Given the description of an element on the screen output the (x, y) to click on. 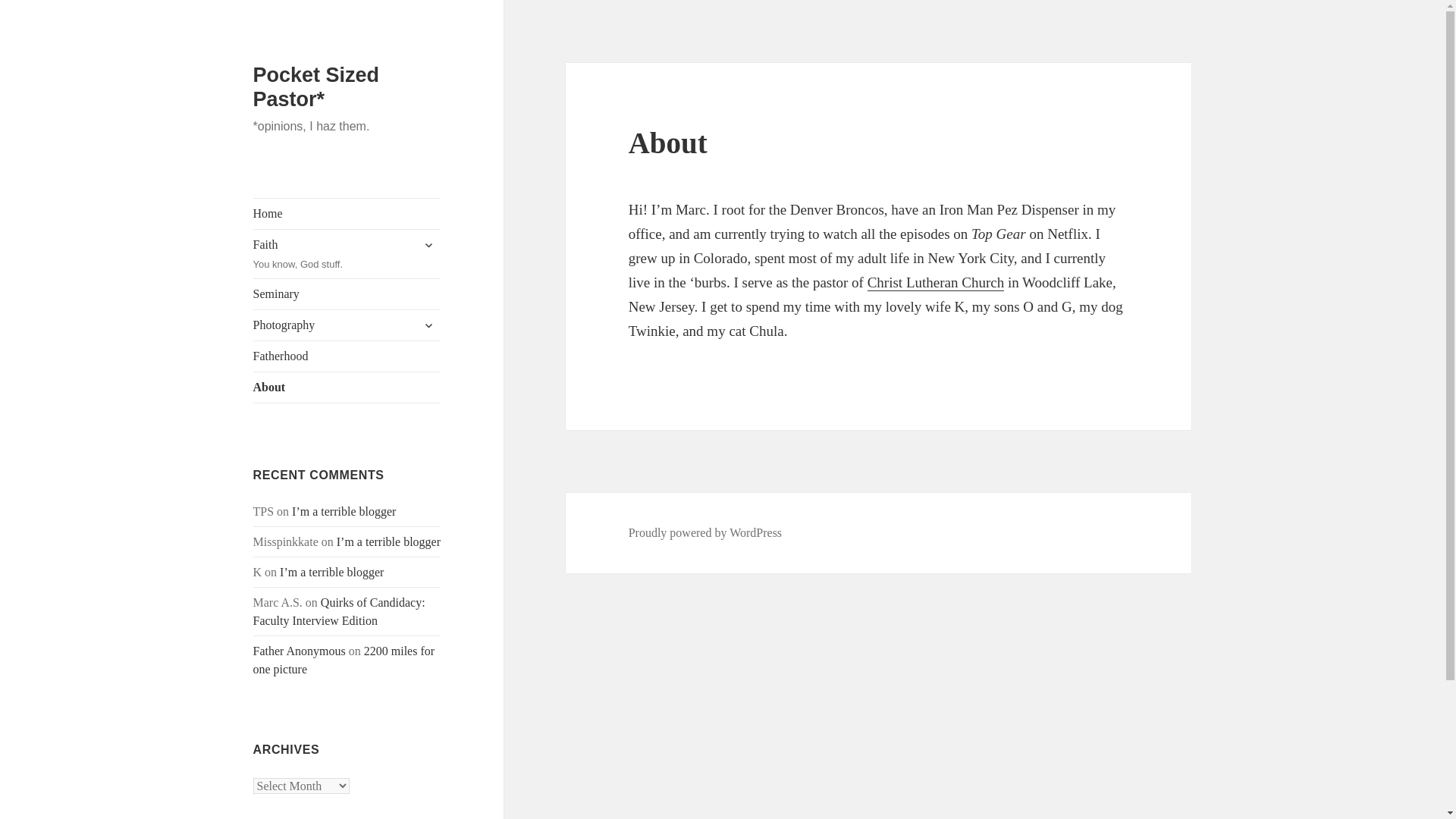
Quirks of Candidacy: Faculty Interview Edition (347, 254)
Proudly powered by WordPress (339, 611)
Christ Lutheran Church (704, 532)
Seminary (935, 282)
expand child menu (347, 294)
expand child menu (428, 324)
Fatherhood (428, 244)
Photography (347, 356)
Father Anonymous (347, 325)
About (299, 650)
2200 miles for one picture (347, 387)
Home (344, 659)
